Given the description of an element on the screen output the (x, y) to click on. 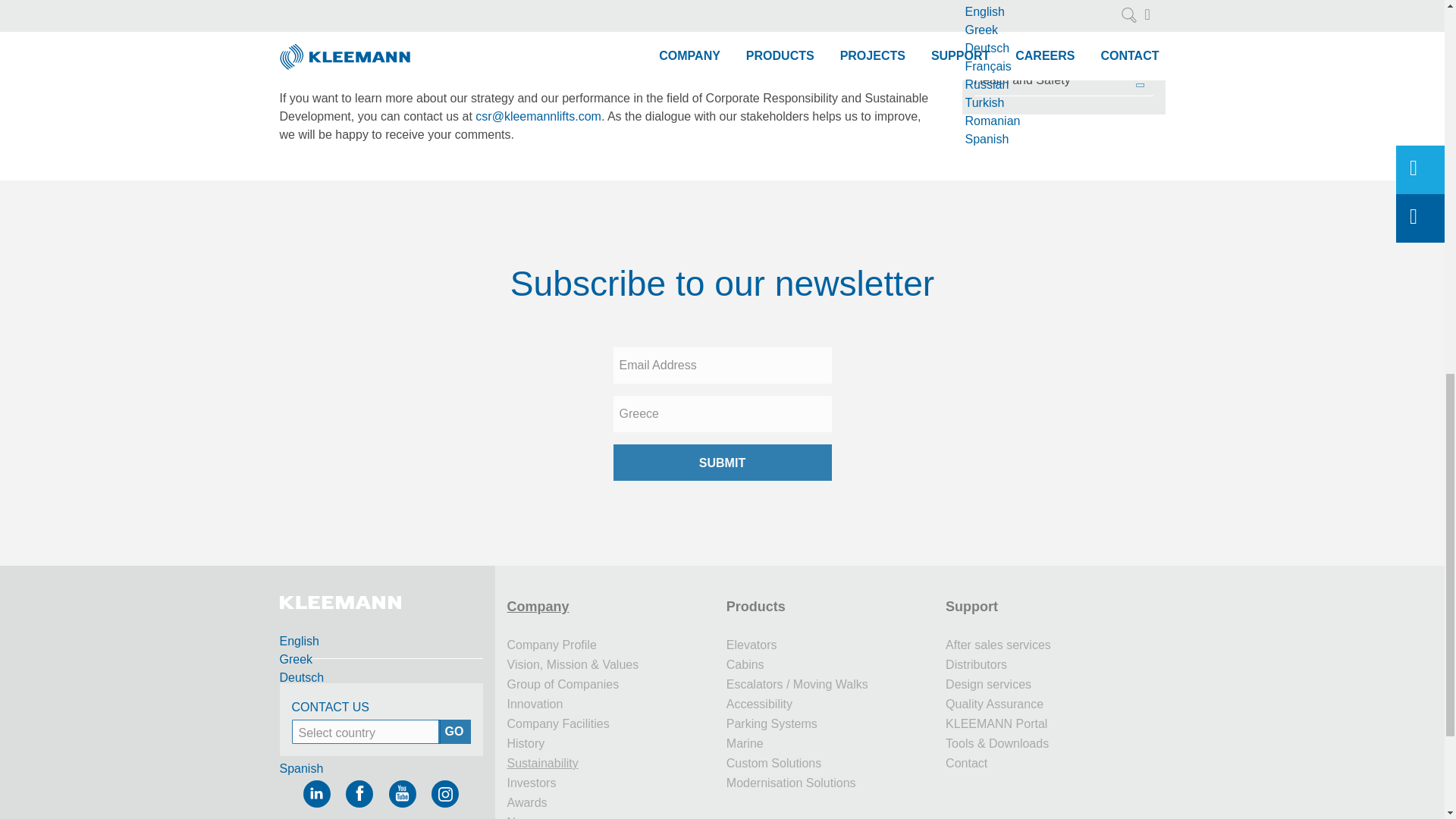
Submit (721, 462)
KLEEMANN Awards (609, 803)
GO (454, 731)
